Given the description of an element on the screen output the (x, y) to click on. 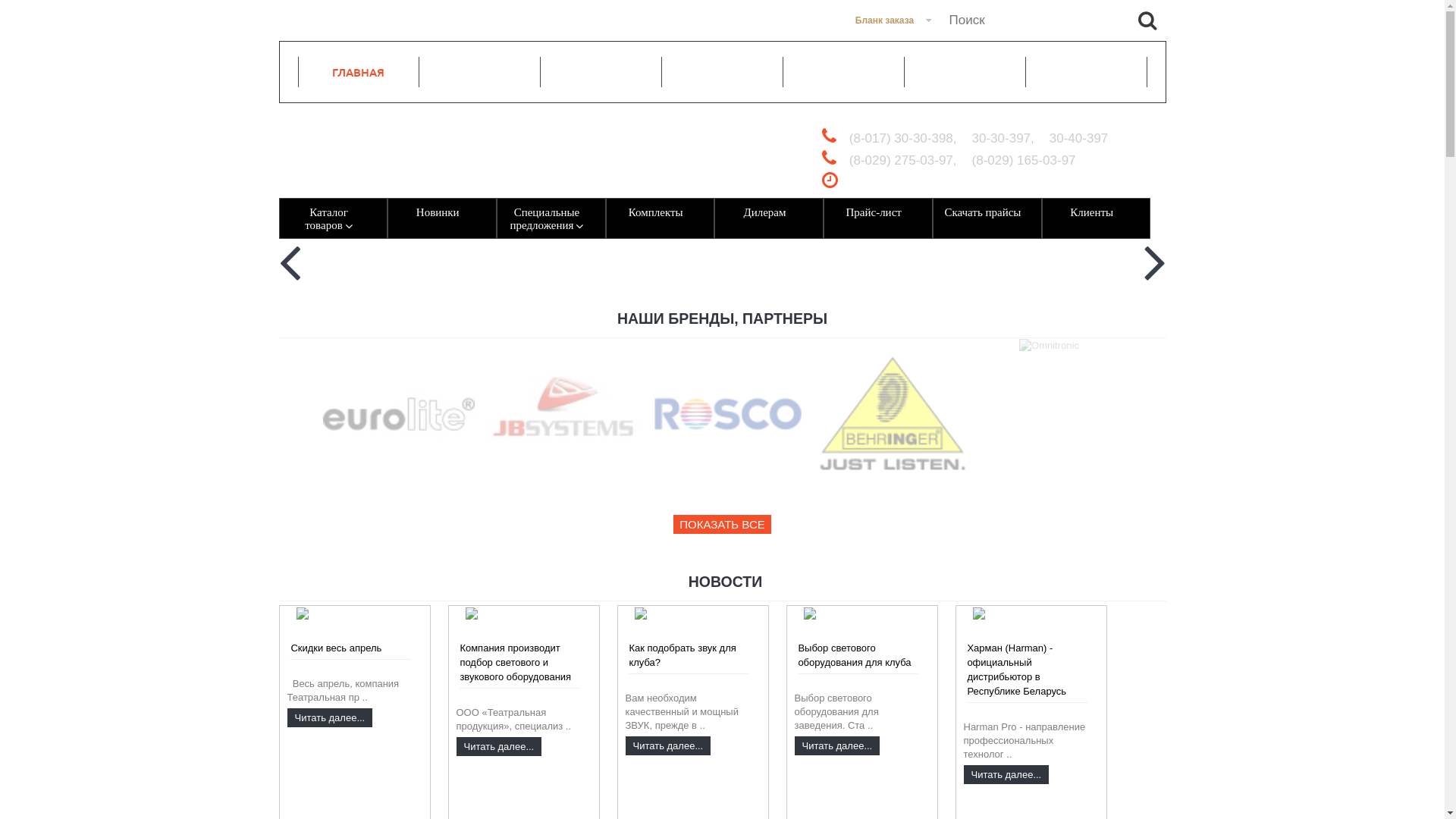
30-40-397 Element type: text (1078, 138)
30-30-397, Element type: text (1002, 138)
Eurolite Element type: hover (398, 413)
Rosco Element type: hover (727, 413)
(8-017) 30-30-398, Element type: text (902, 138)
(8-029) 165-03-97 Element type: text (1023, 160)
(8-029) 275-03-97, Element type: text (902, 160)
JB System Element type: hover (562, 413)
Behringer Element type: hover (891, 413)
Omnitronic Element type: hover (1049, 345)
